Given the description of an element on the screen output the (x, y) to click on. 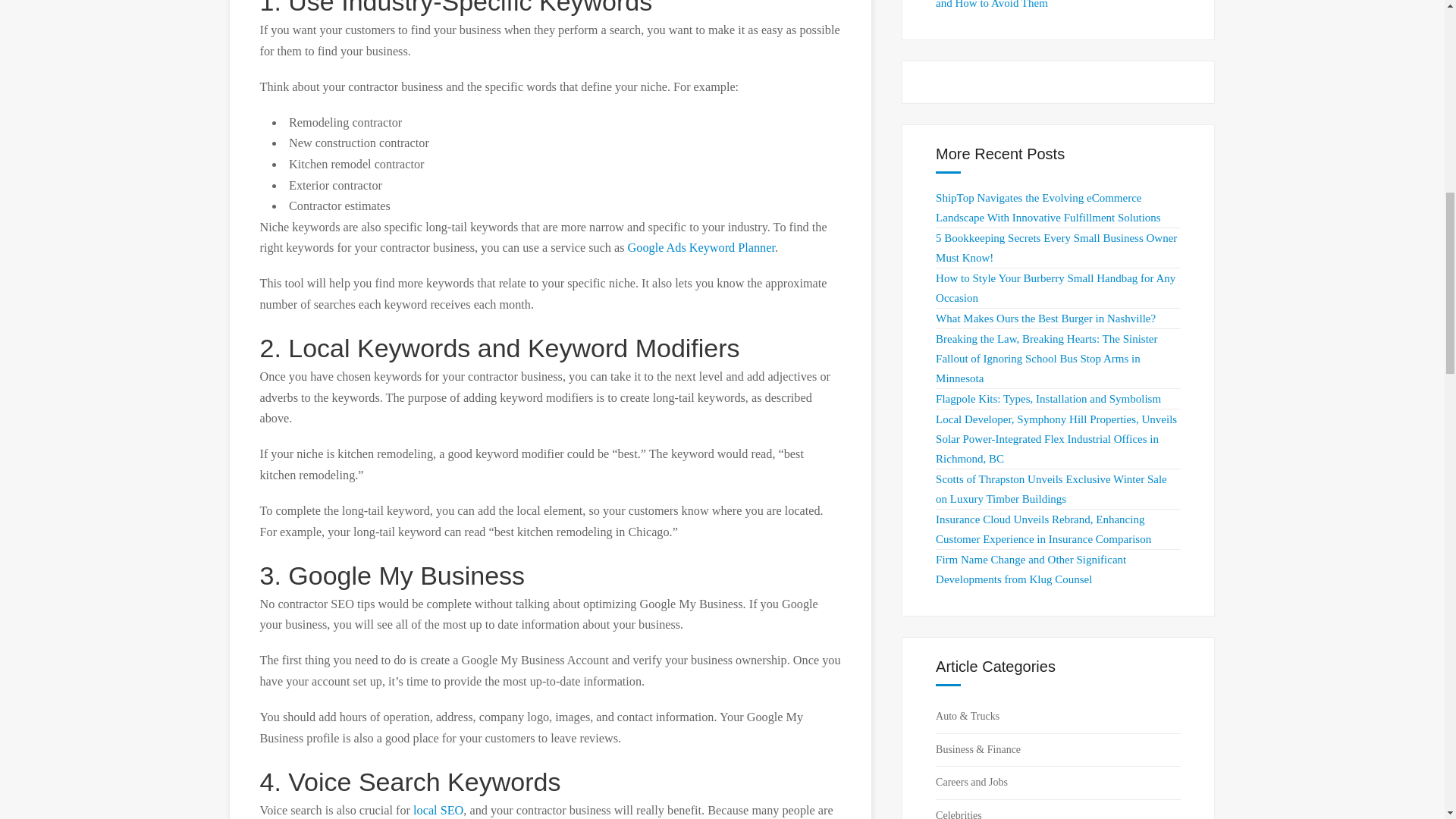
local SEO (438, 810)
How to Style Your Burberry Small Handbag for Any Occasion (1055, 287)
What Makes Ours the Best Burger in Nashville? (1046, 318)
5 Bookkeeping Secrets Every Small Business Owner Must Know! (1056, 247)
Google Ads Keyword Planner (700, 247)
